Given the description of an element on the screen output the (x, y) to click on. 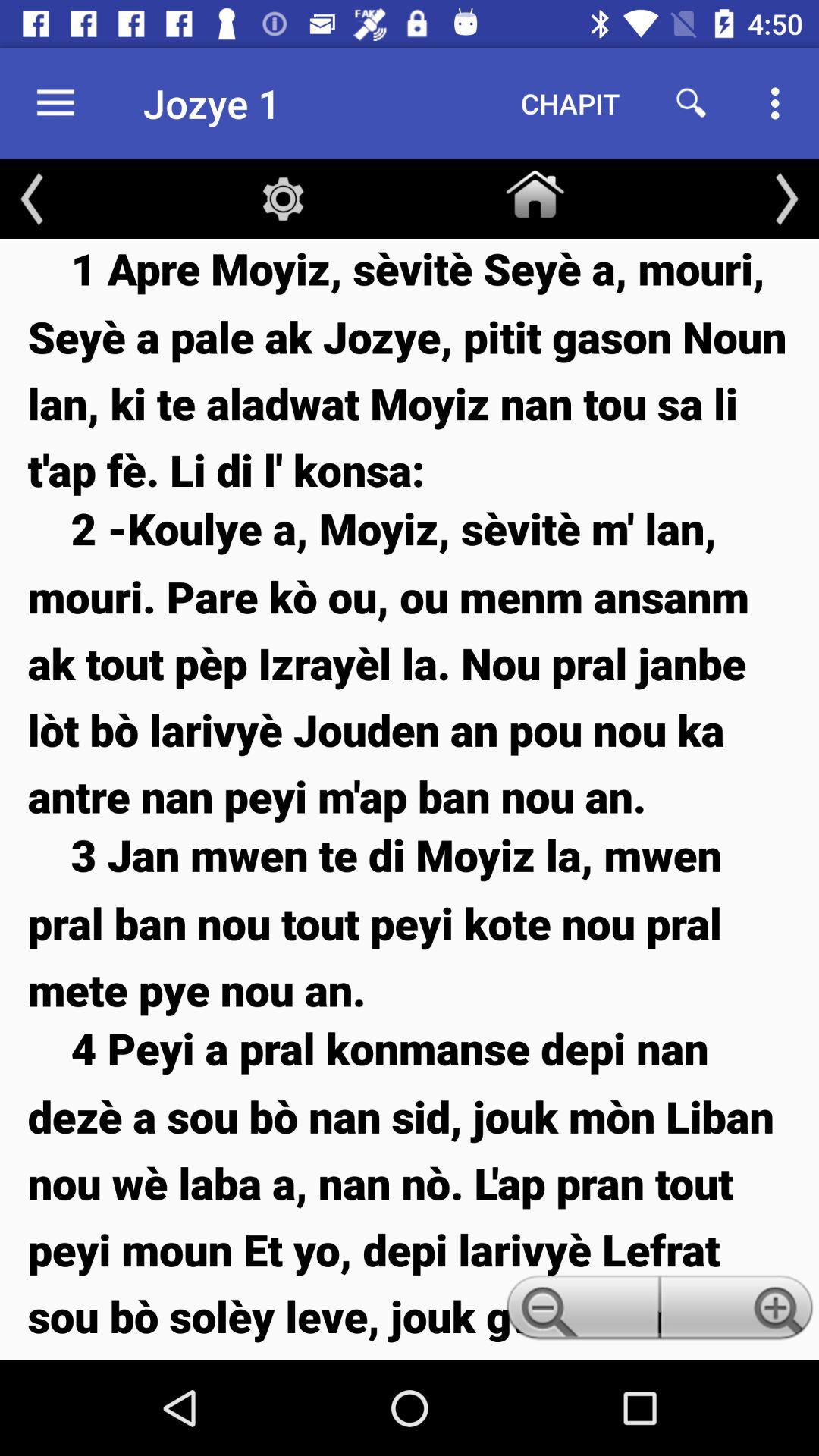
select 3 jan mwen (409, 921)
